Given the description of an element on the screen output the (x, y) to click on. 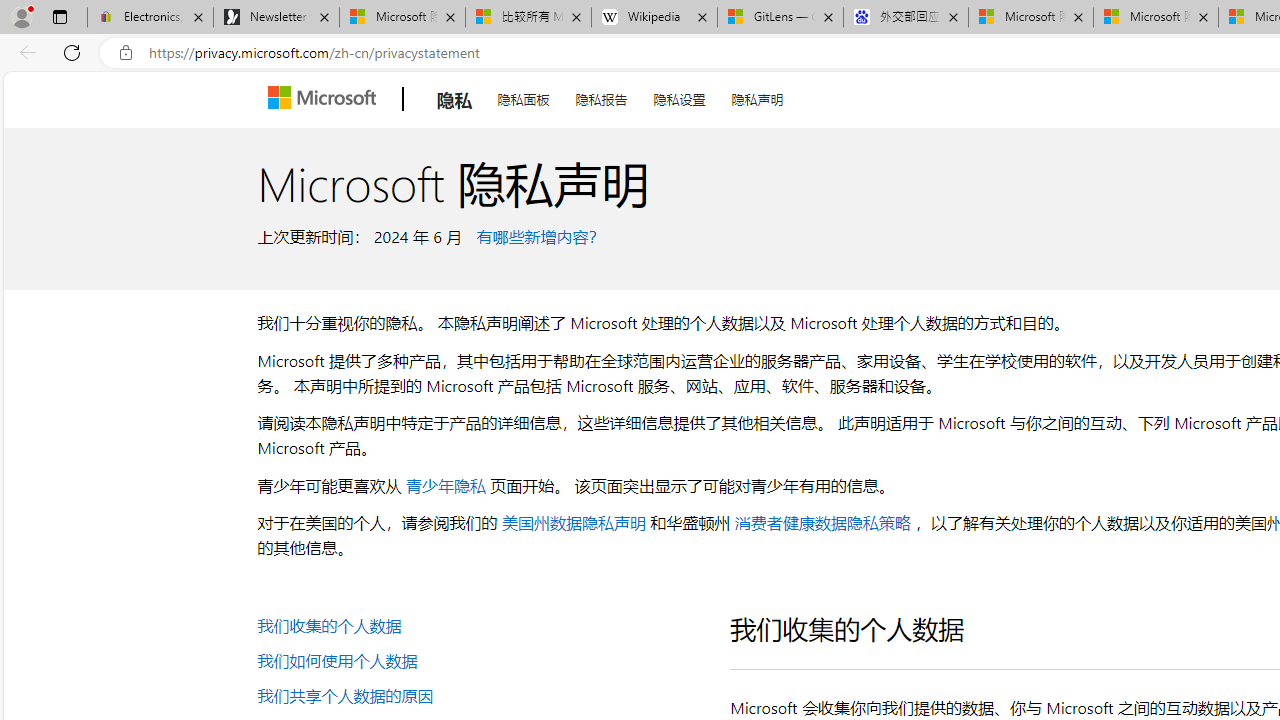
Newsletter Sign Up (276, 17)
